Given the description of an element on the screen output the (x, y) to click on. 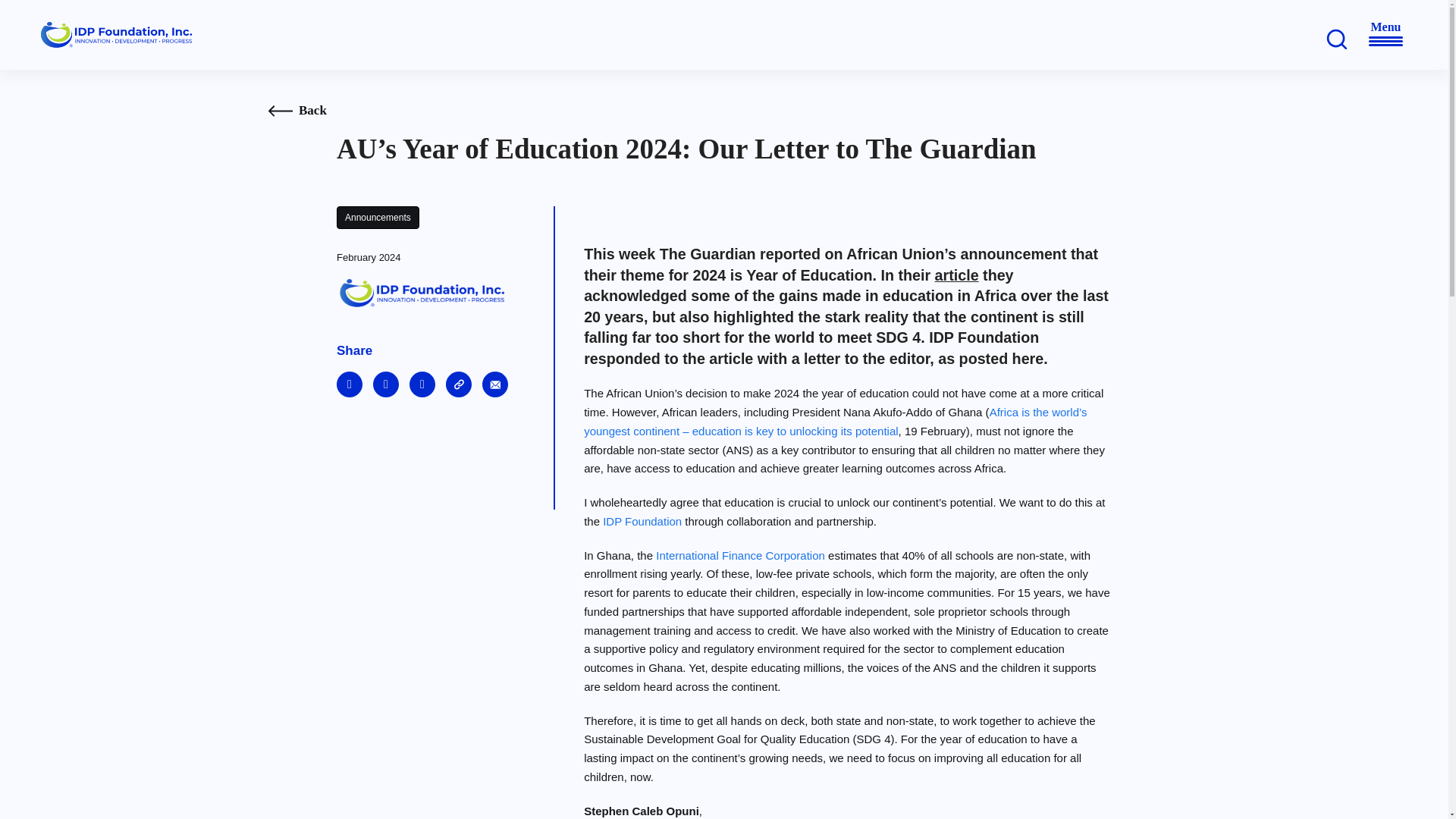
s (1335, 35)
Back (312, 110)
International Finance Corporation (740, 554)
article (956, 274)
IDP Foundation (641, 521)
Share by Email (494, 384)
